Given the description of an element on the screen output the (x, y) to click on. 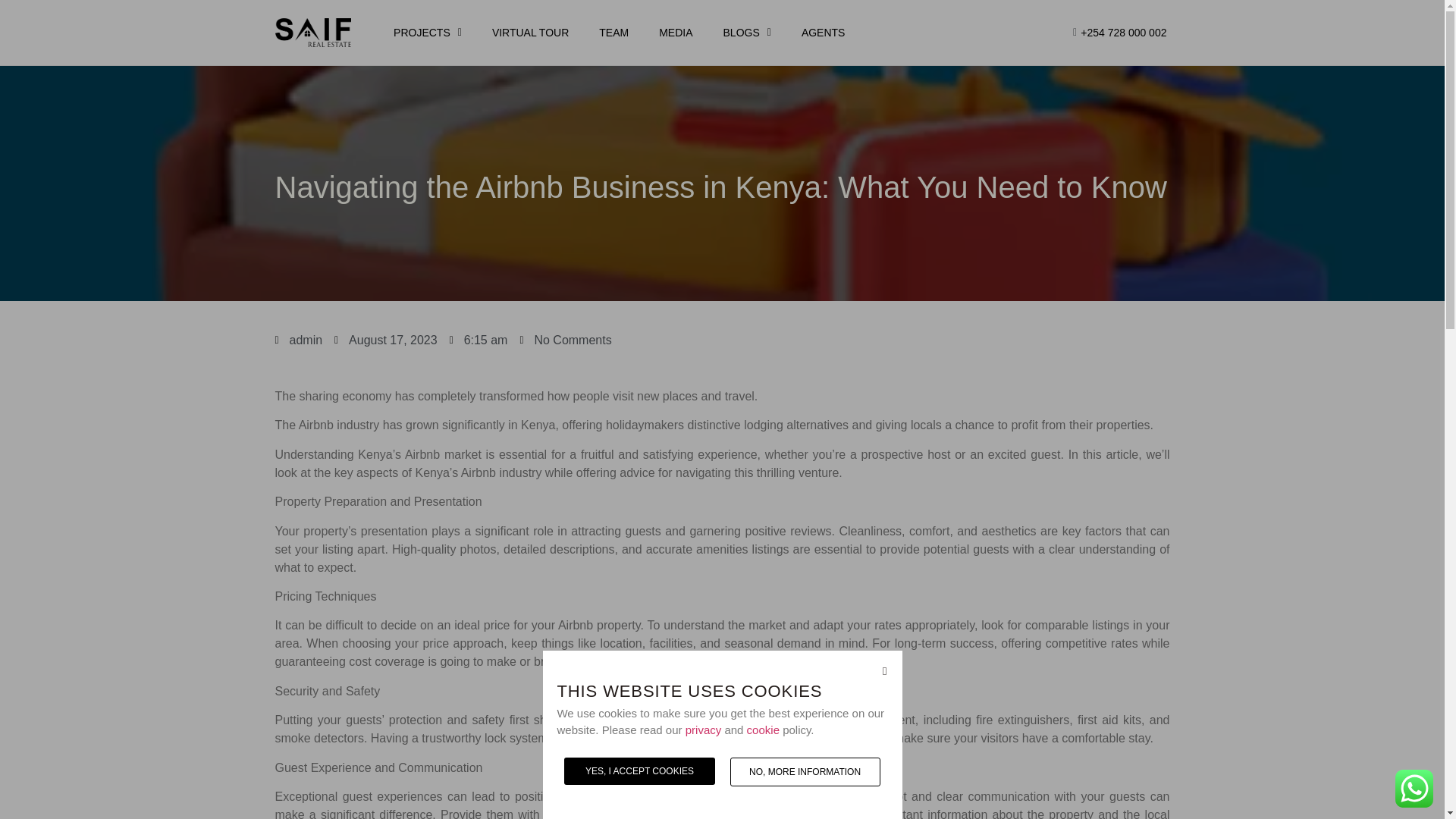
AGENTS (823, 32)
TEAM (613, 32)
PROJECTS (427, 32)
VIRTUAL TOUR (530, 32)
MEDIA (675, 32)
BLOGS (746, 32)
